Given the description of an element on the screen output the (x, y) to click on. 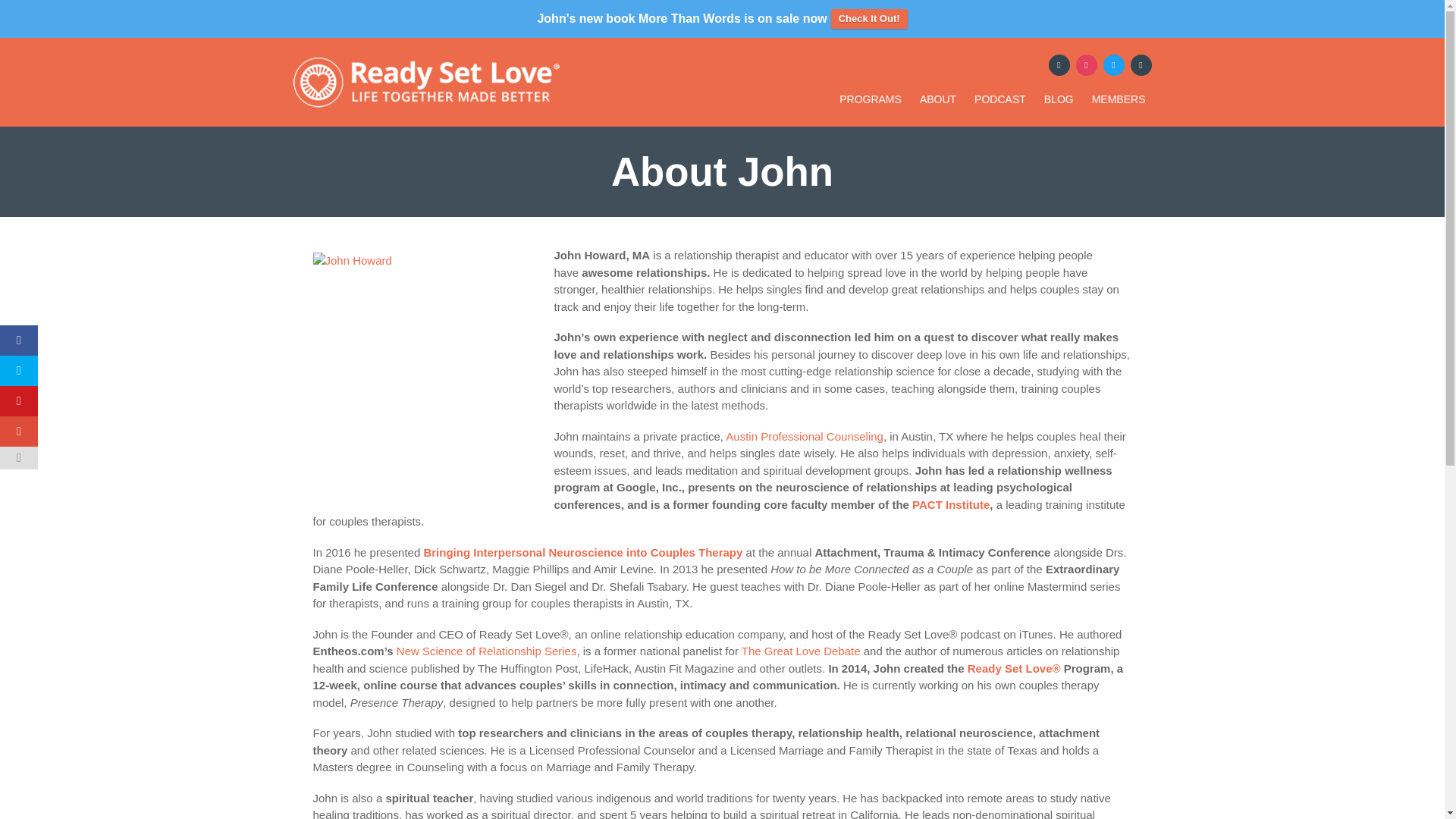
PACT Institute (951, 504)
The Great Love Debate (800, 650)
Austin Professional Counseling (804, 436)
PROGRAMS (870, 98)
Facebook (1058, 63)
Twitter (1113, 63)
Instagram (1085, 63)
youtube (1140, 63)
ABOUT (938, 98)
Bringing Interpersonal Neuroscience into Couples Therapy (582, 552)
BLOG (1059, 98)
Check It Out! (869, 18)
instagram (1085, 63)
Default Label (1140, 63)
twitter (1113, 63)
